Given the description of an element on the screen output the (x, y) to click on. 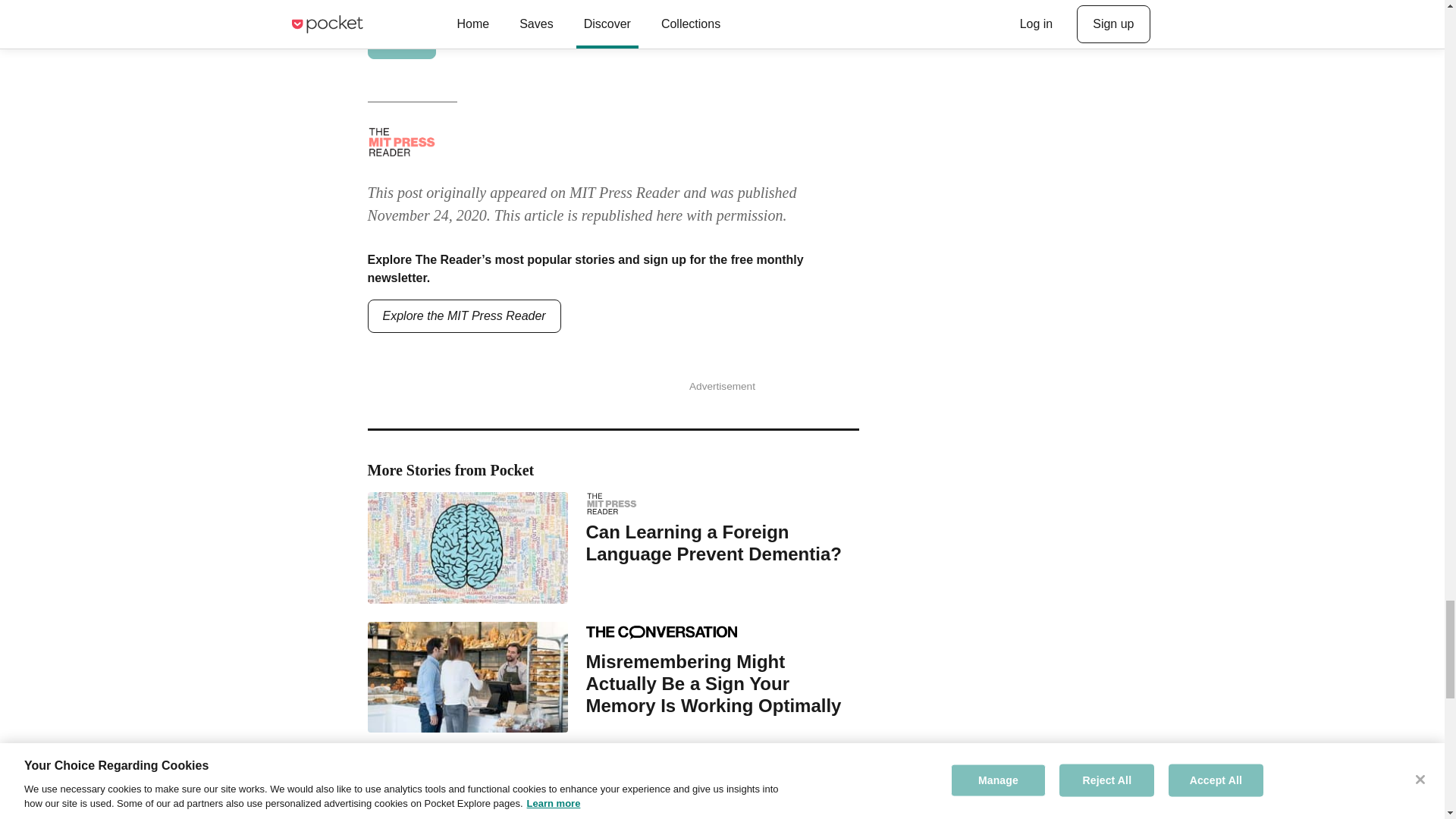
Can Learning a Foreign Language Prevent Dementia? (722, 542)
Explore the MIT Press Reader (463, 315)
Can Lucid Dreaming Help Us Understand Consciousness? (722, 799)
Save (400, 42)
